Given the description of an element on the screen output the (x, y) to click on. 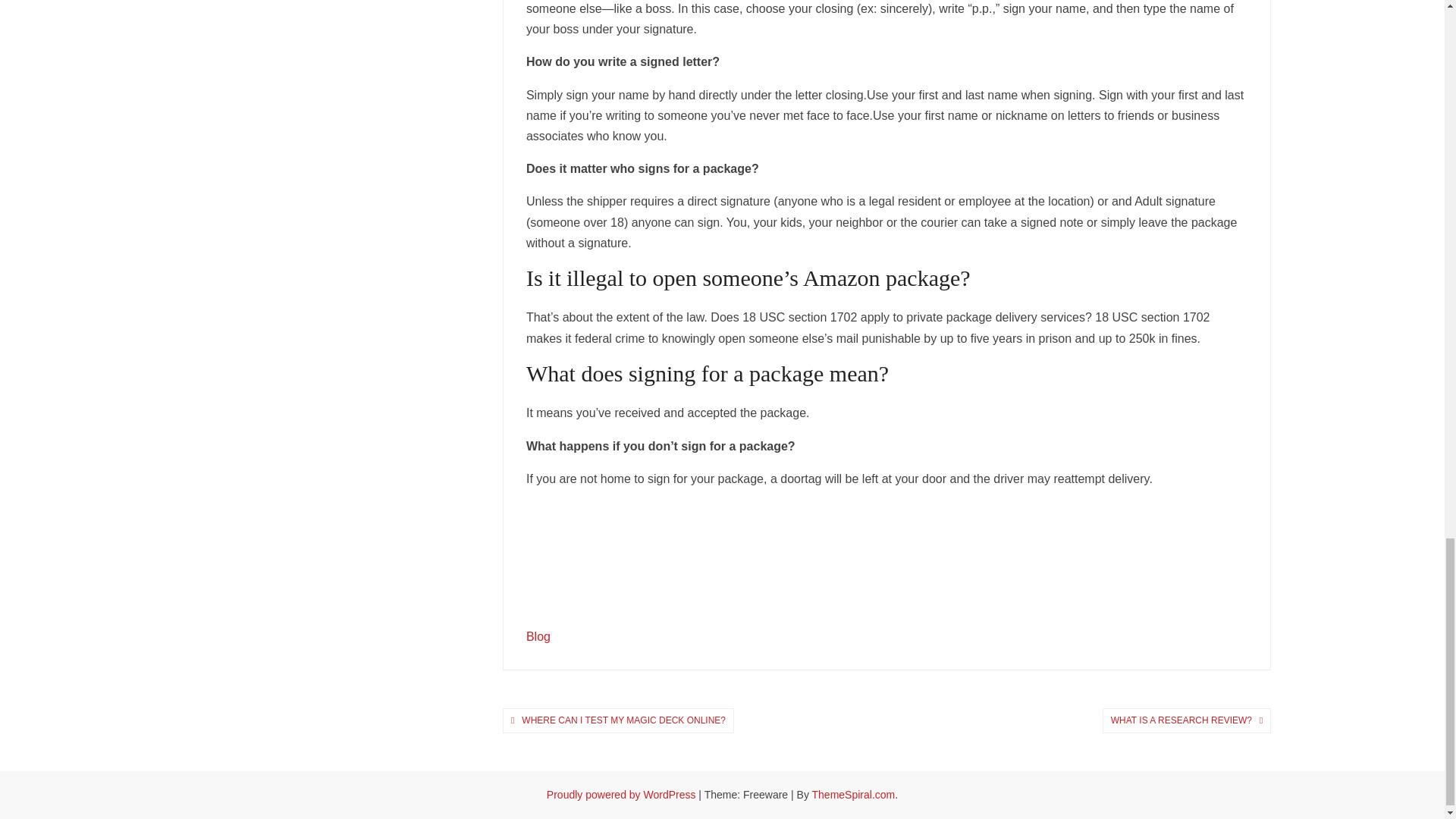
Proudly powered by WordPress (622, 794)
WHERE CAN I TEST MY MAGIC DECK ONLINE? (623, 720)
Blog (537, 635)
WHAT IS A RESEARCH REVIEW? (1181, 720)
